Given the description of an element on the screen output the (x, y) to click on. 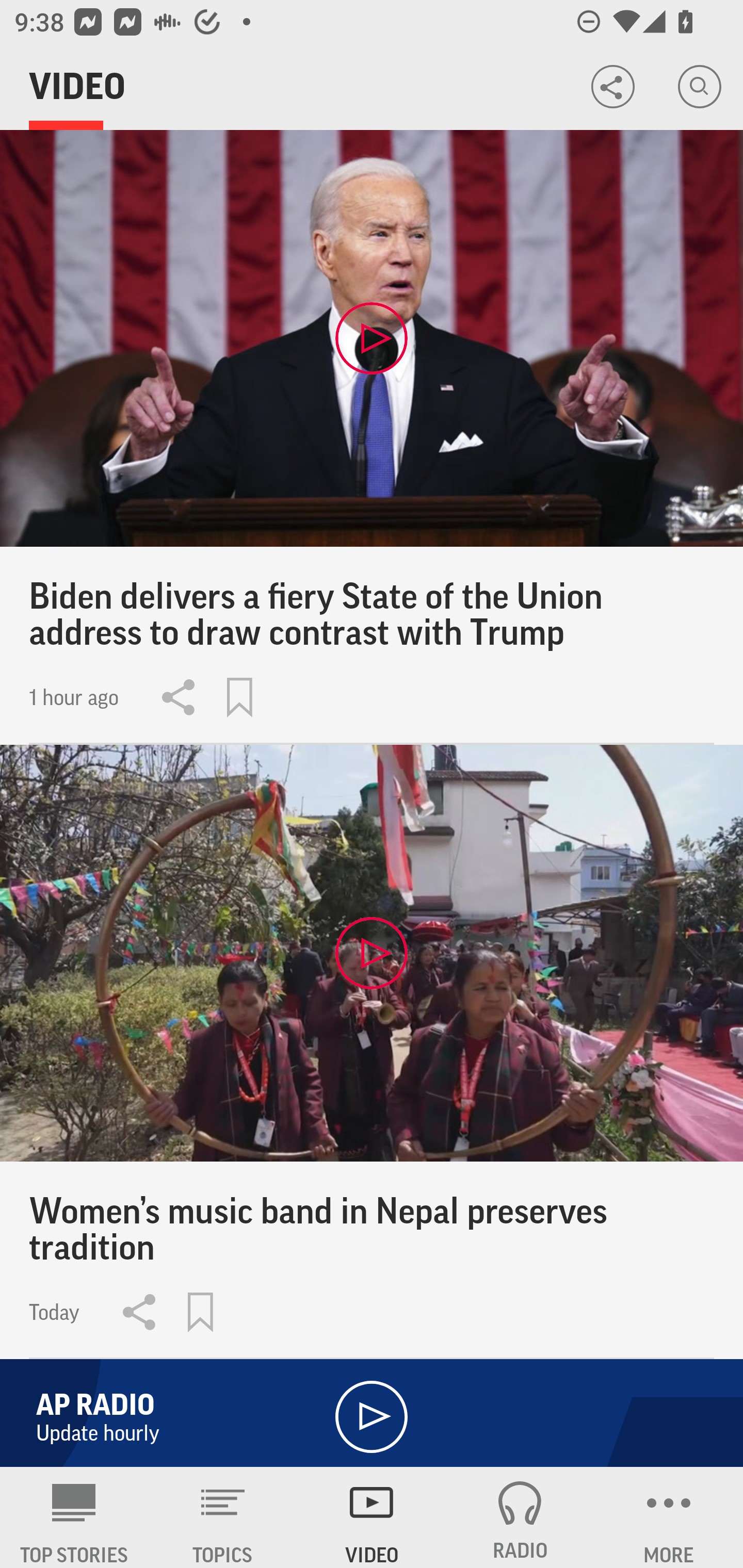
AP News TOP STORIES (74, 1517)
TOPICS (222, 1517)
VIDEO (371, 1517)
RADIO (519, 1517)
MORE (668, 1517)
